Given the description of an element on the screen output the (x, y) to click on. 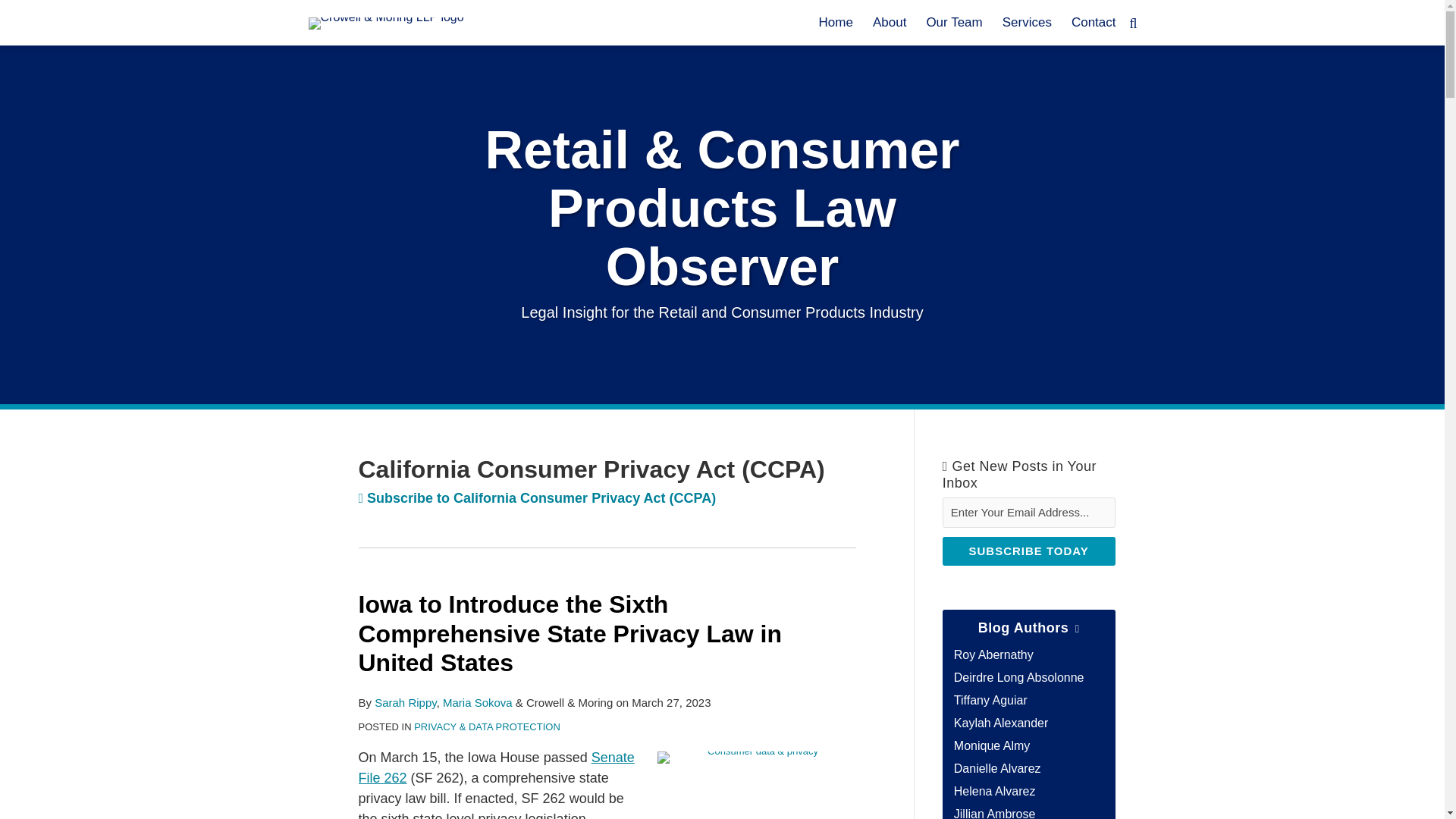
Sarah Rippy (404, 702)
Services (1027, 22)
Our Team (953, 22)
Home (835, 22)
Subscribe Today (1028, 551)
Maria Sokova (477, 702)
About (888, 22)
Senate File 262 (495, 767)
Contact (1093, 22)
